Given the description of an element on the screen output the (x, y) to click on. 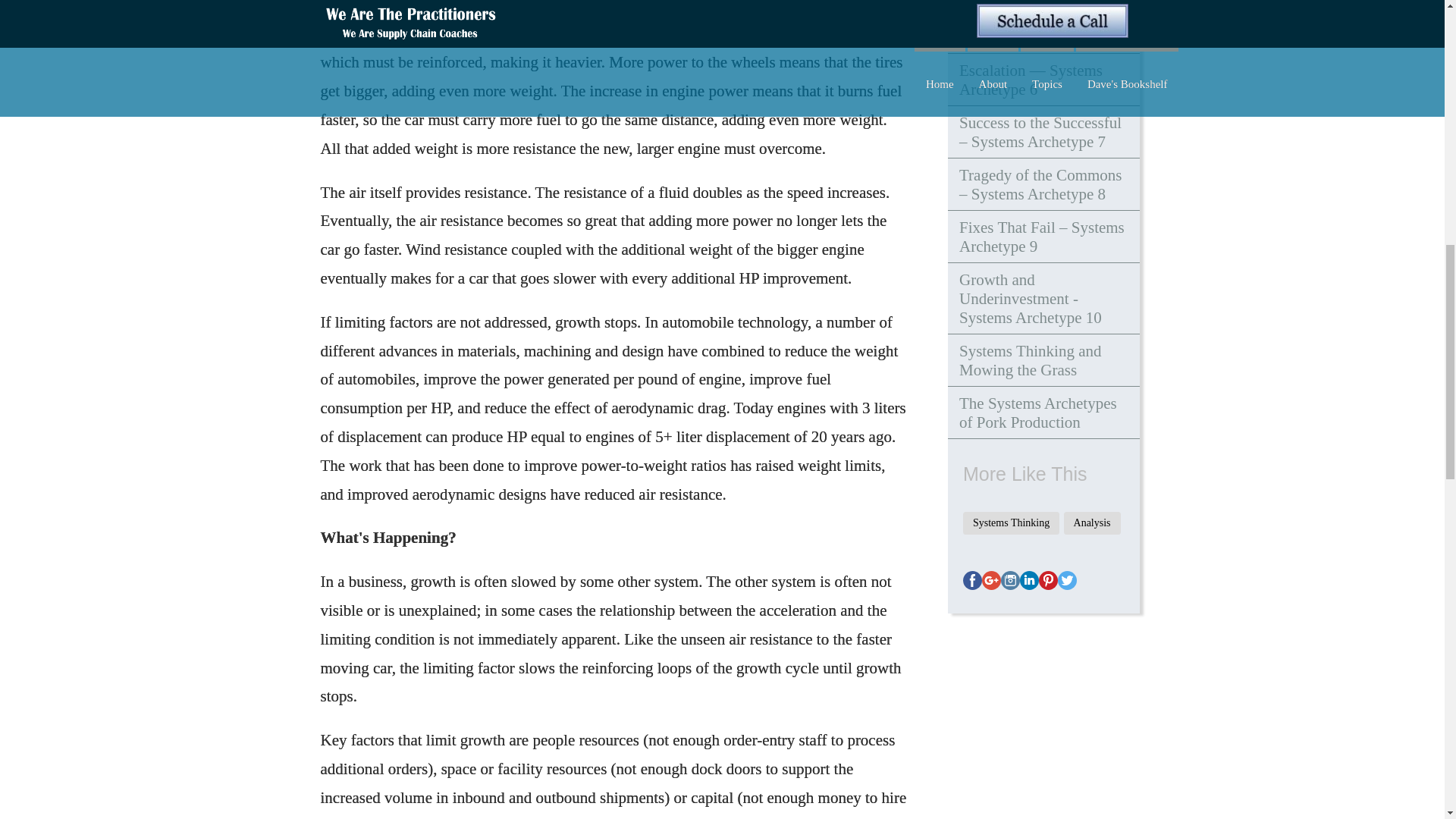
Facebook (971, 579)
Linkedin (1029, 579)
Pinterest (1048, 579)
Instagram (1010, 579)
GooglePlus (991, 579)
Twitter (1067, 579)
